Given the description of an element on the screen output the (x, y) to click on. 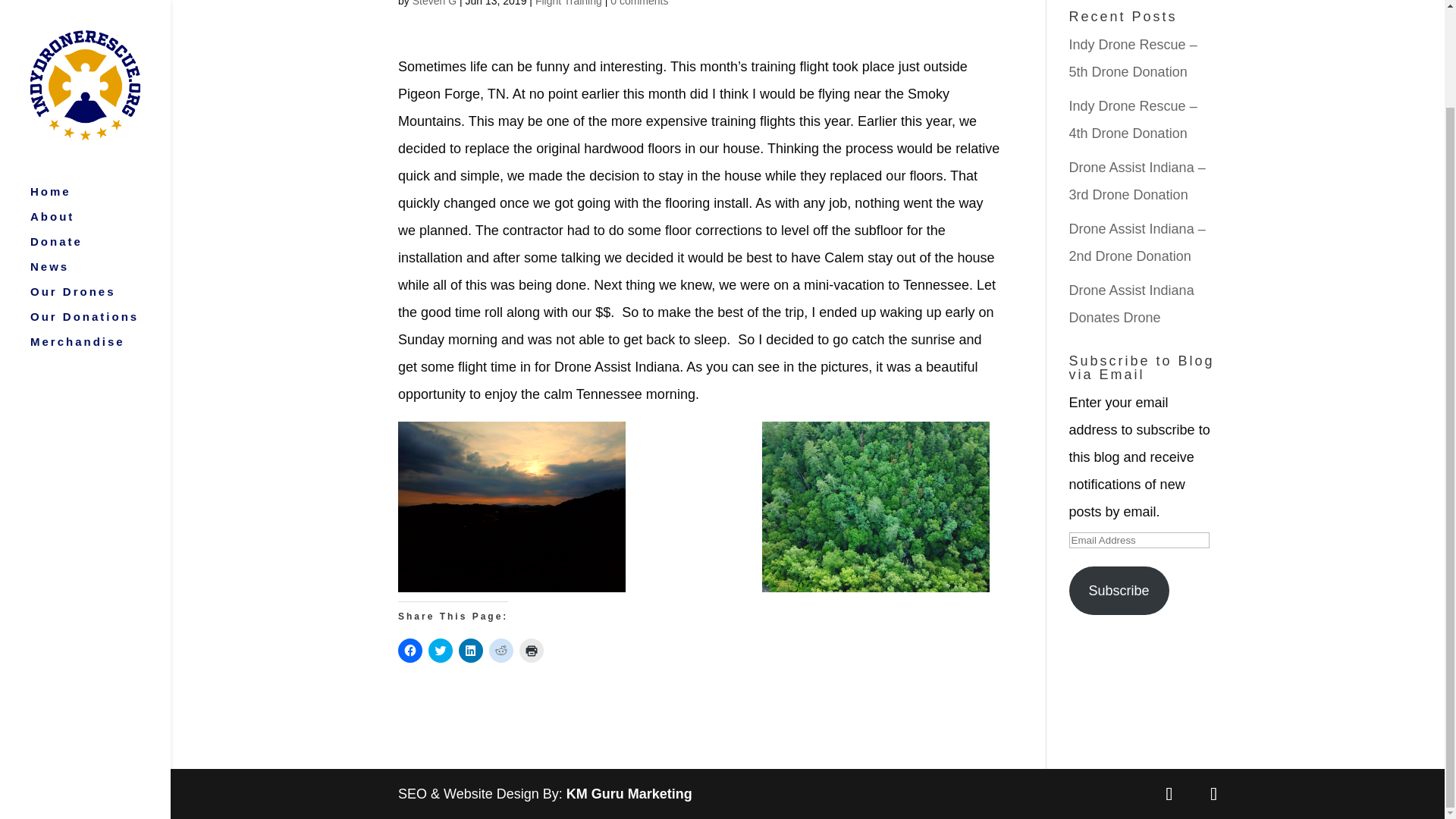
Click to share on Facebook (409, 650)
About (100, 111)
Click to print (531, 650)
Posts by Steven G (434, 2)
Flight Training (568, 2)
Our Drones (100, 186)
Our Donations (100, 211)
News (100, 161)
Steven G (434, 2)
0 comments (639, 2)
